Given the description of an element on the screen output the (x, y) to click on. 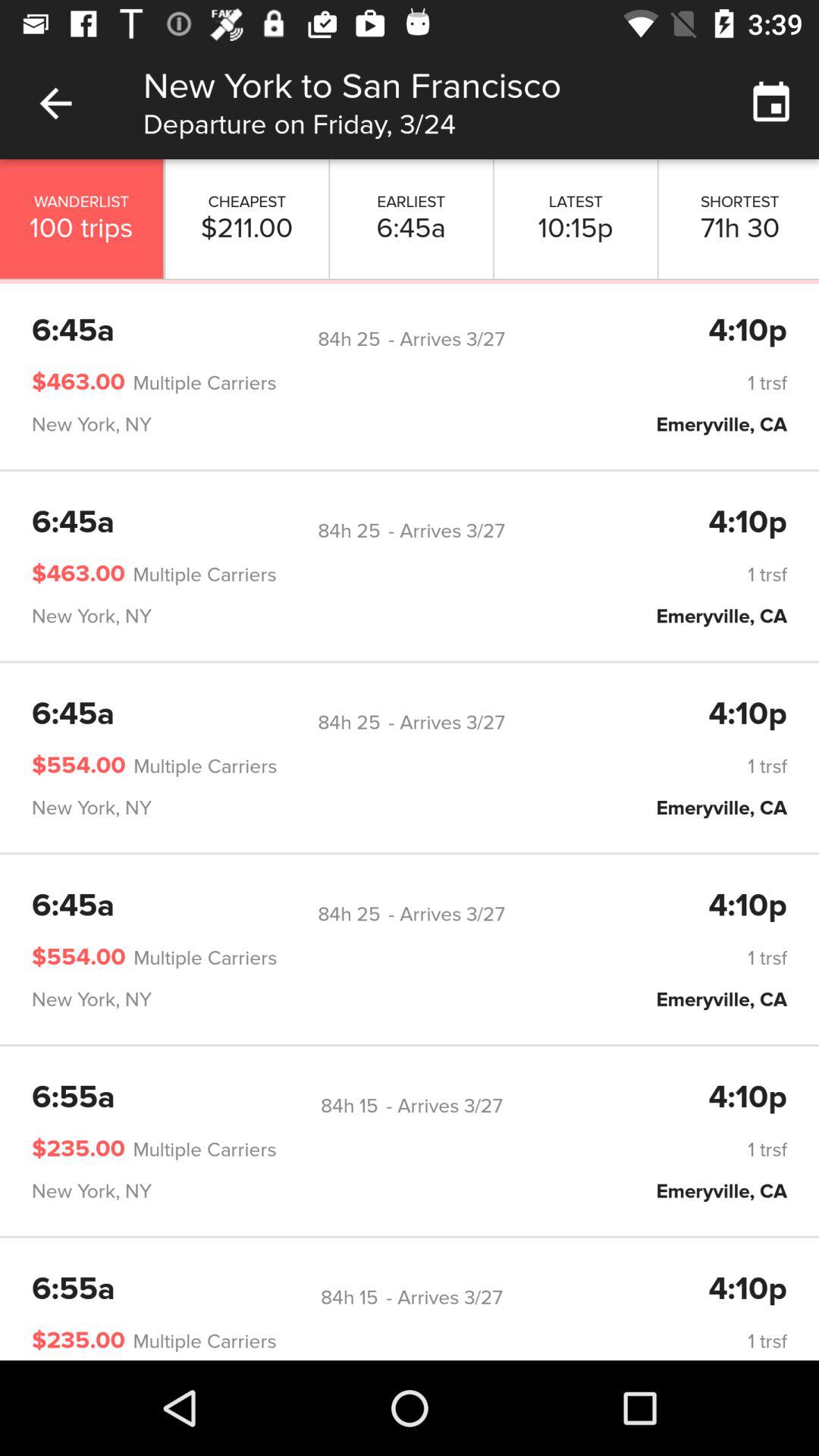
turn on icon above the wanderlist item (55, 103)
